Given the description of an element on the screen output the (x, y) to click on. 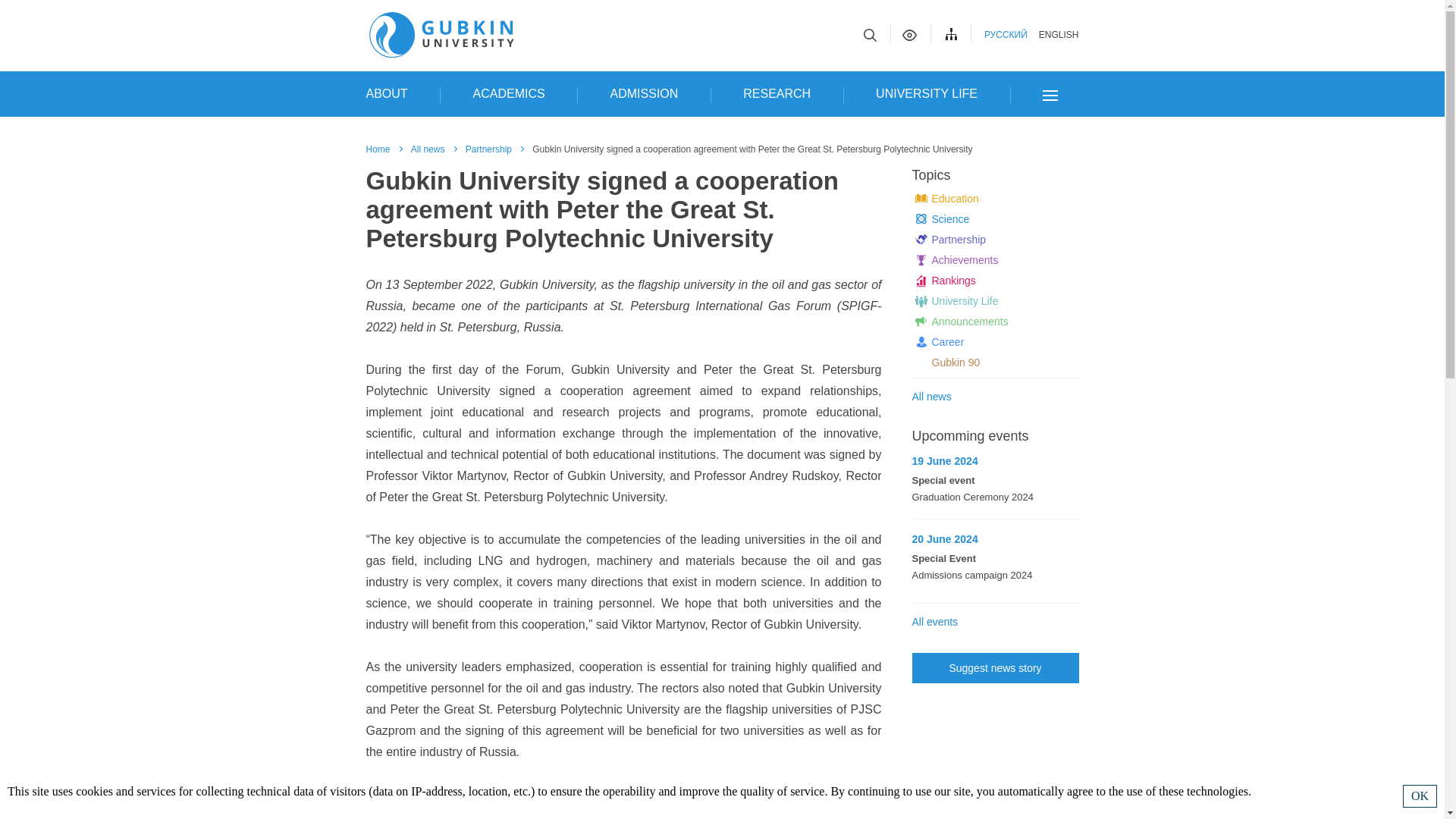
Home (378, 149)
ACADEMICS (509, 94)
ADMISSION (644, 94)
RESEARCH (776, 94)
UNIVERSITY LIFE (926, 94)
Partnership (490, 149)
ABOUT (386, 94)
All news (428, 149)
